Given the description of an element on the screen output the (x, y) to click on. 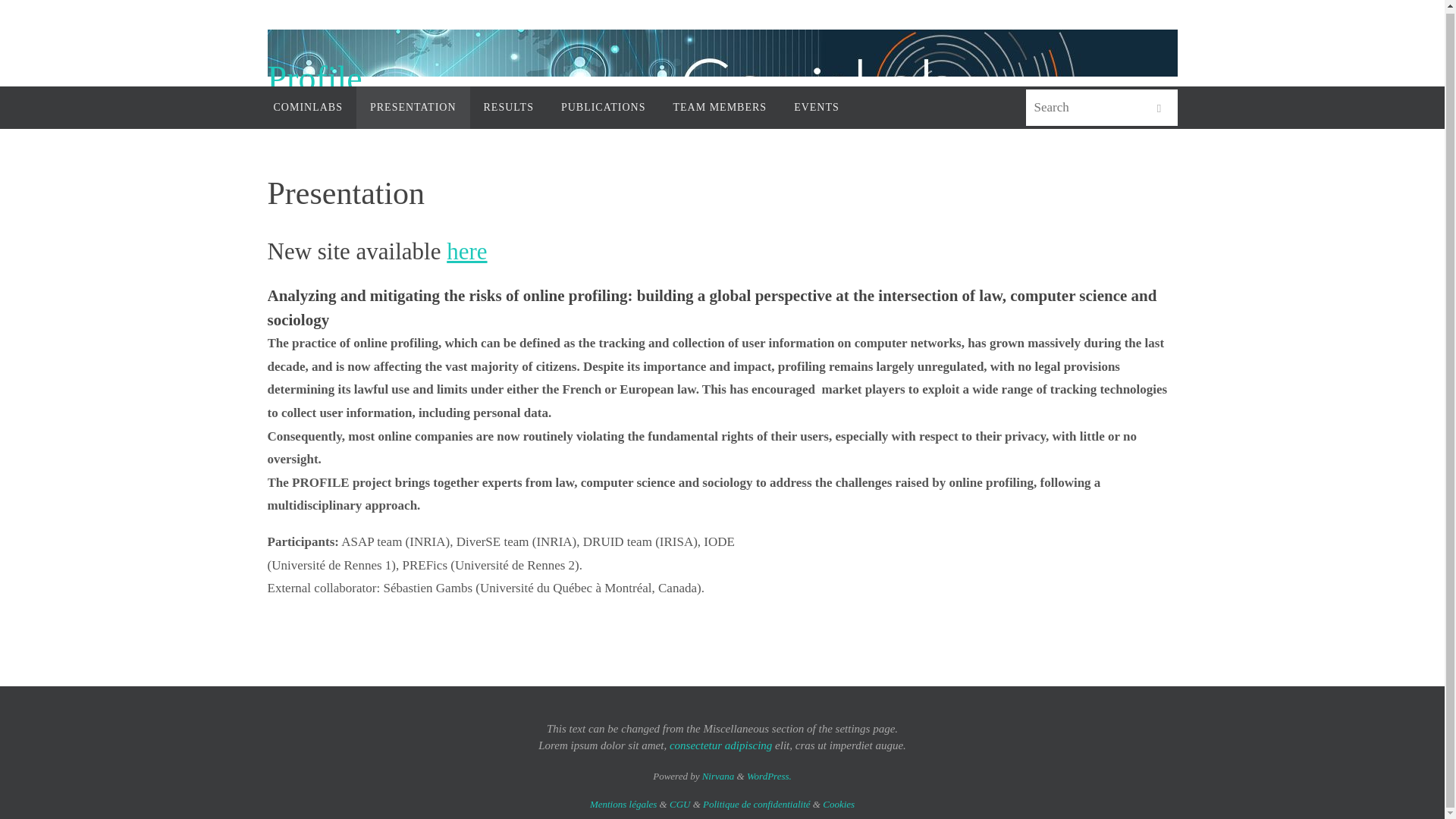
COMINLABS (307, 107)
Profile (313, 79)
Nirvana (718, 776)
RESULTS (508, 107)
CGU (679, 803)
TEAM MEMBERS (719, 107)
Cookies (838, 803)
EVENTS (816, 107)
Search (1158, 108)
Semantic Personal Publishing Platform (769, 776)
